Given the description of an element on the screen output the (x, y) to click on. 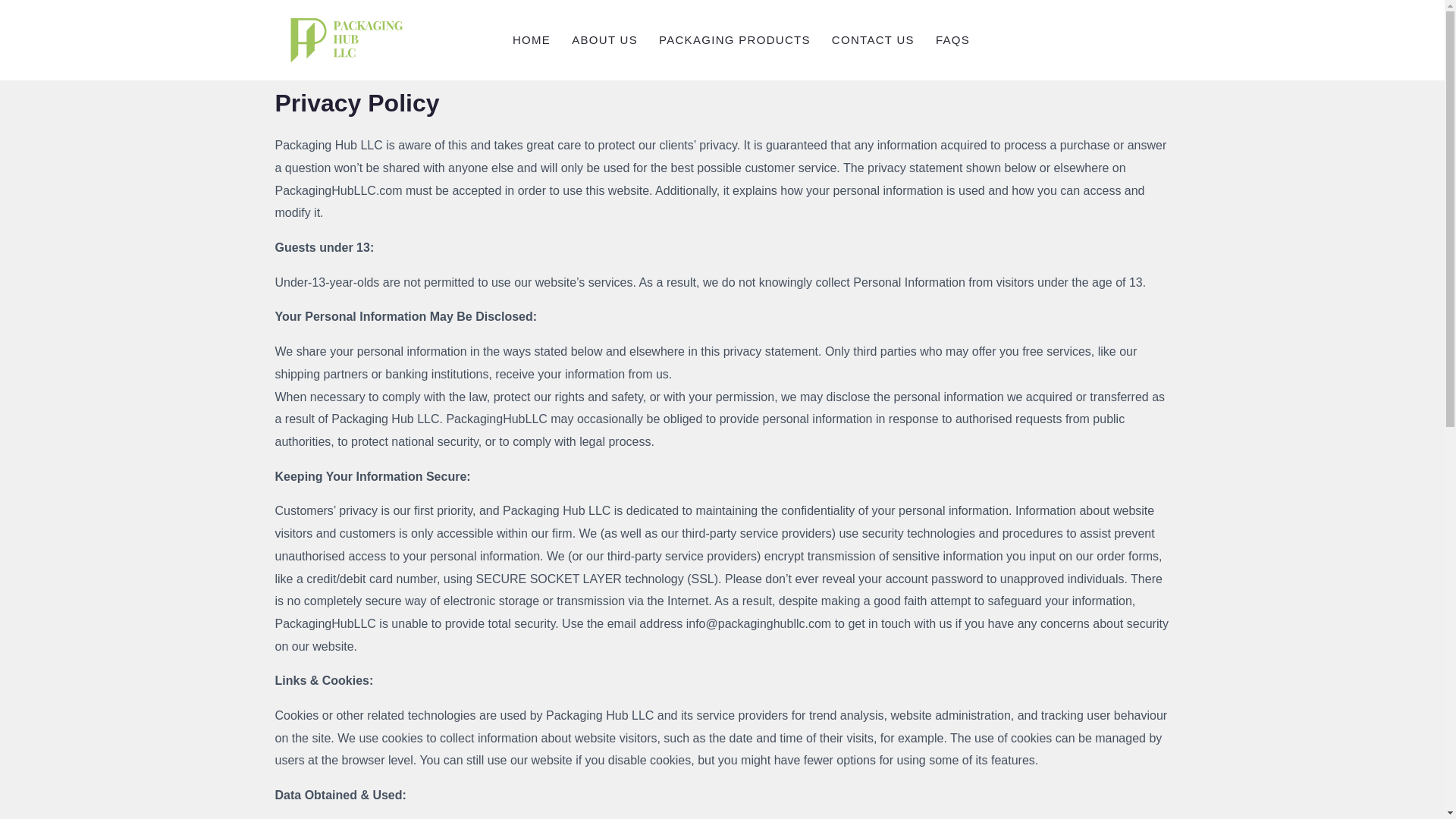
CONTACT US (872, 39)
PACKAGING PRODUCTS (734, 39)
FAQS (952, 39)
HOME (531, 39)
ABOUT US (604, 39)
